Given the description of an element on the screen output the (x, y) to click on. 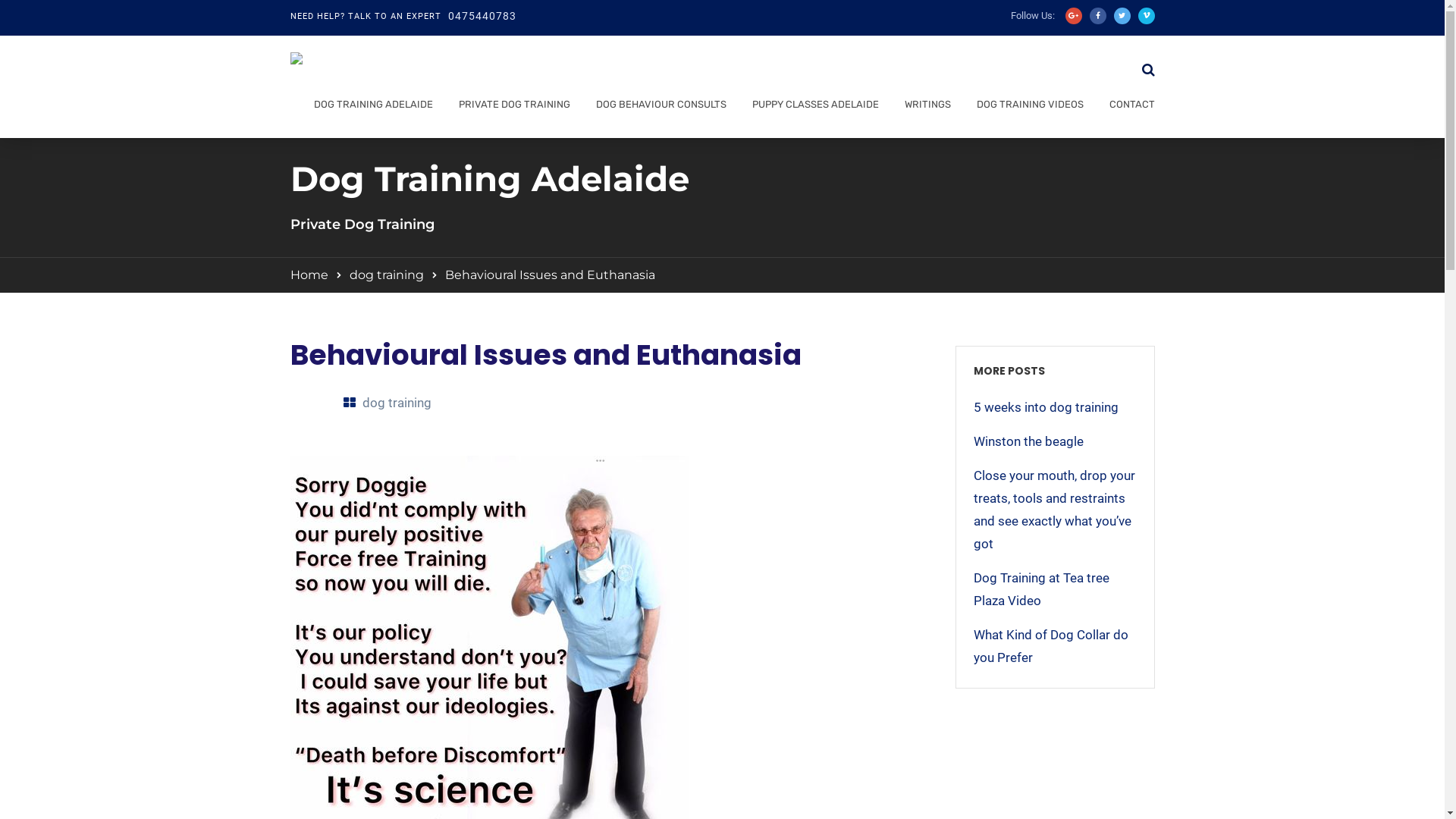
PRIVATE DOG TRAINING Element type: text (510, 107)
DOG BEHAVIOUR CONSULTS Element type: text (655, 107)
Home Element type: text (308, 274)
Winston the beagle Element type: text (1054, 440)
dog training Element type: text (396, 402)
WRITINGS Element type: text (923, 107)
Dog Training at Tea tree Plaza Video Element type: text (1054, 588)
0475440783 Element type: text (481, 16)
What Kind of Dog Collar do you Prefer Element type: text (1054, 645)
dog training Element type: text (385, 274)
DOG TRAINING ADELAIDE Element type: text (368, 107)
PUPPY CLASSES ADELAIDE Element type: text (810, 107)
DOG TRAINING VIDEOS Element type: text (1024, 107)
5 weeks into dog training Element type: text (1054, 406)
CONTACT Element type: text (1127, 107)
